Given the description of an element on the screen output the (x, y) to click on. 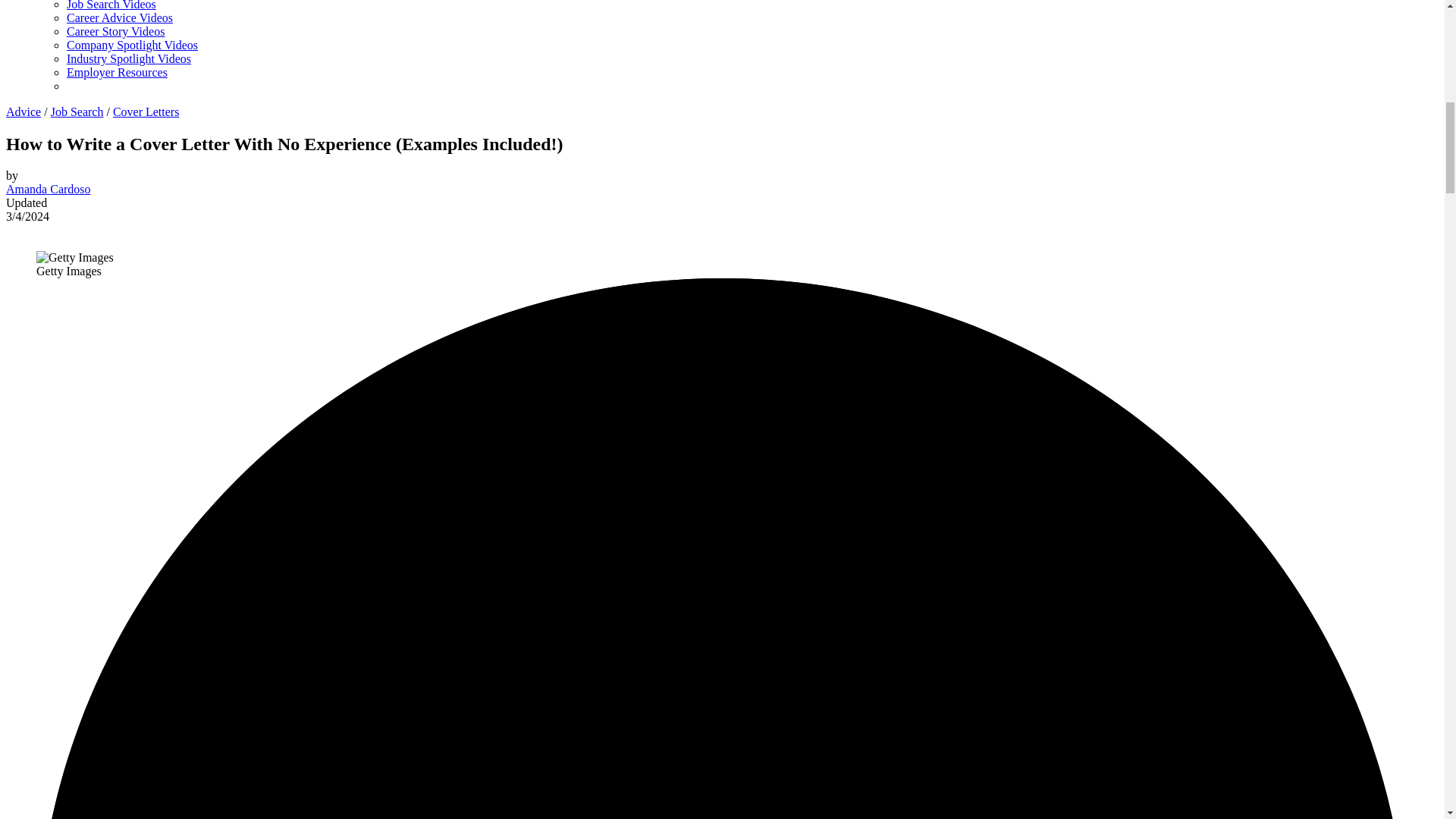
LinkedIn (36, 229)
Facebook (11, 229)
Twitter (23, 229)
Email (48, 229)
